Given the description of an element on the screen output the (x, y) to click on. 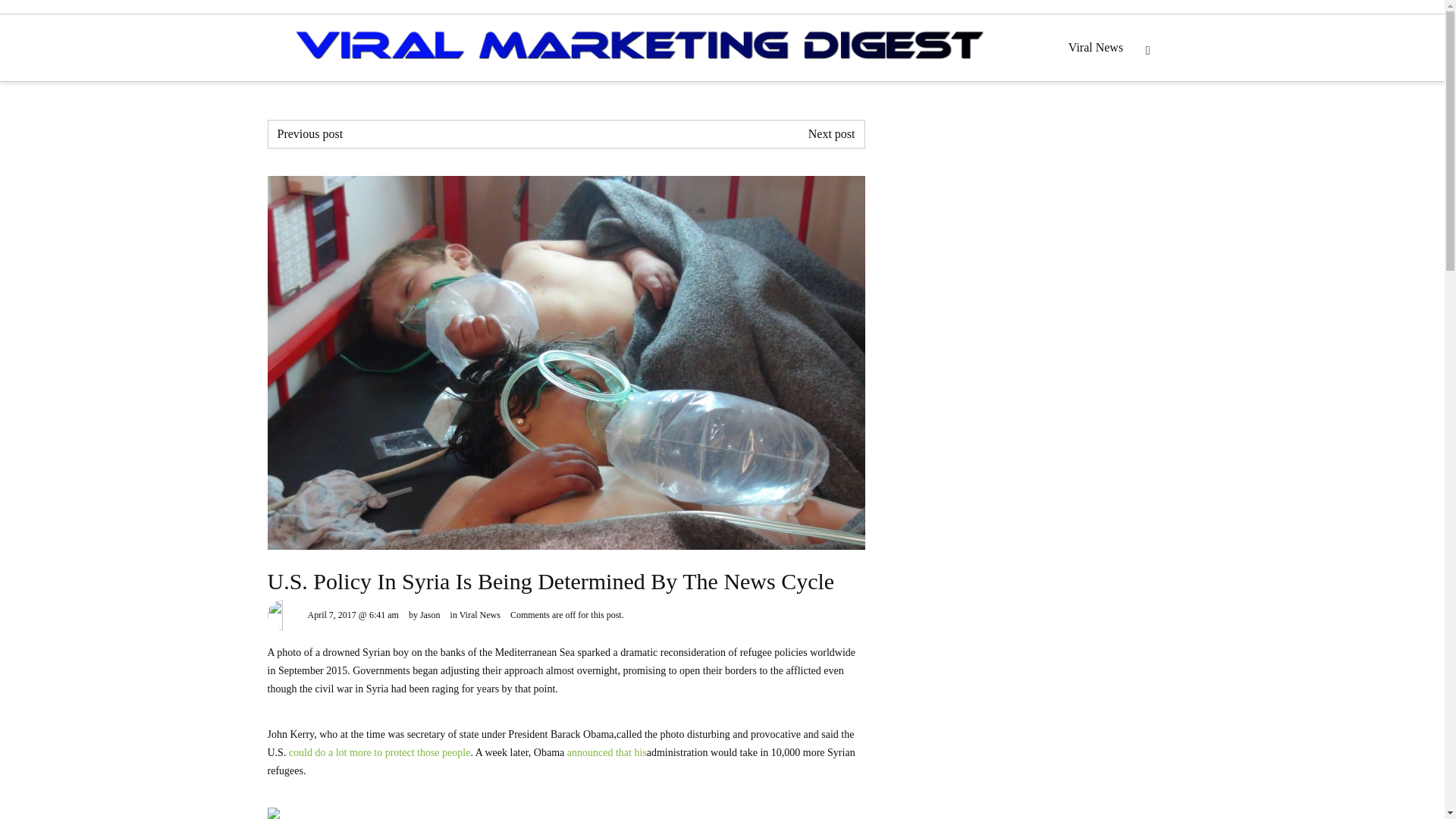
Viral News (480, 614)
Male Lawmakers Suggest Women Go To The 'Zoo' For Abortions (832, 133)
announced that his (606, 751)
Next post (832, 133)
Previous post (310, 133)
could do a lot more to protect those people (379, 751)
Jason (430, 614)
Viral News (1095, 47)
